Given the description of an element on the screen output the (x, y) to click on. 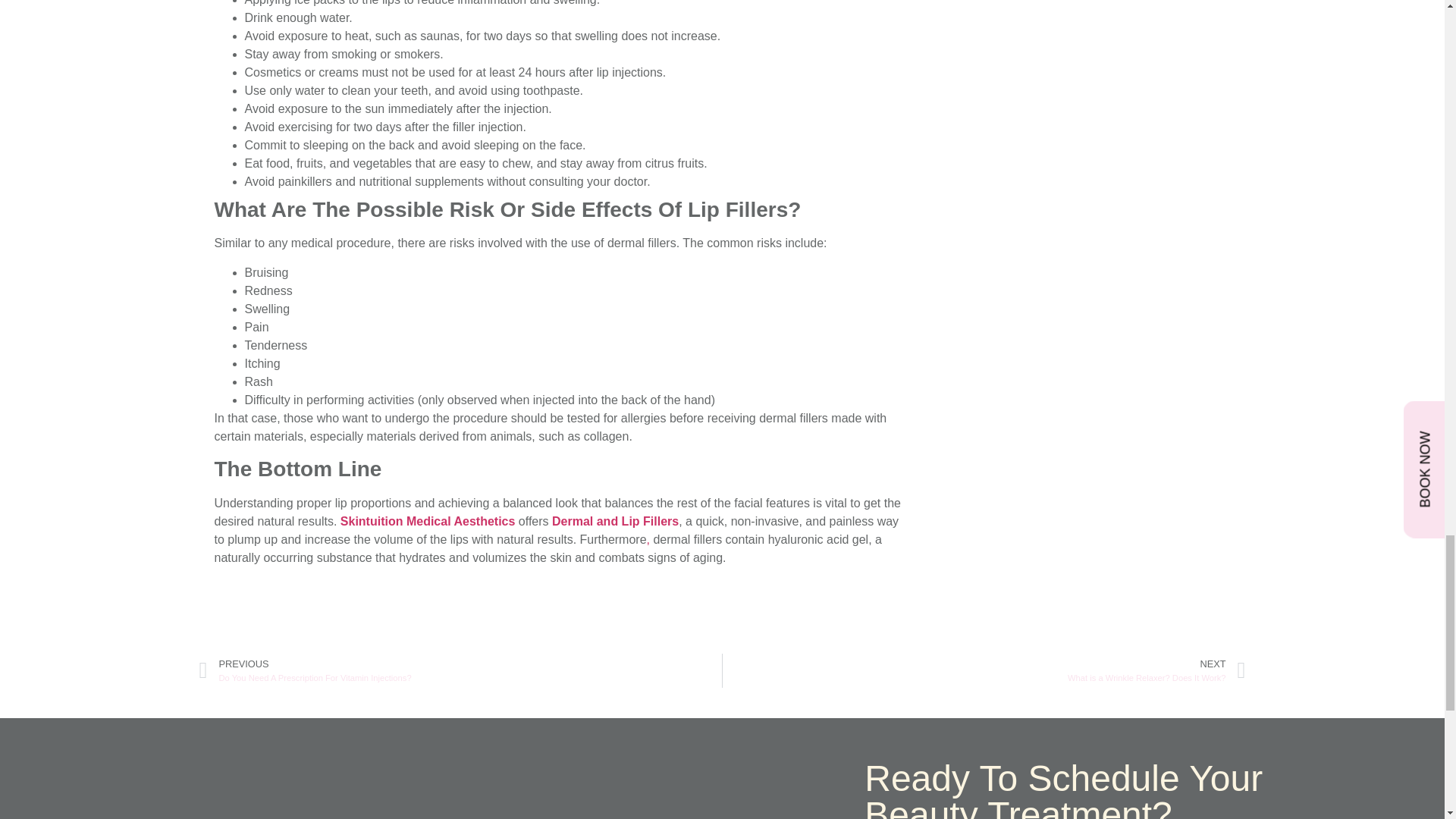
Skintuition Medical Aesthetics (427, 521)
, (647, 539)
Dermal and Lip Fillers (614, 521)
